Given the description of an element on the screen output the (x, y) to click on. 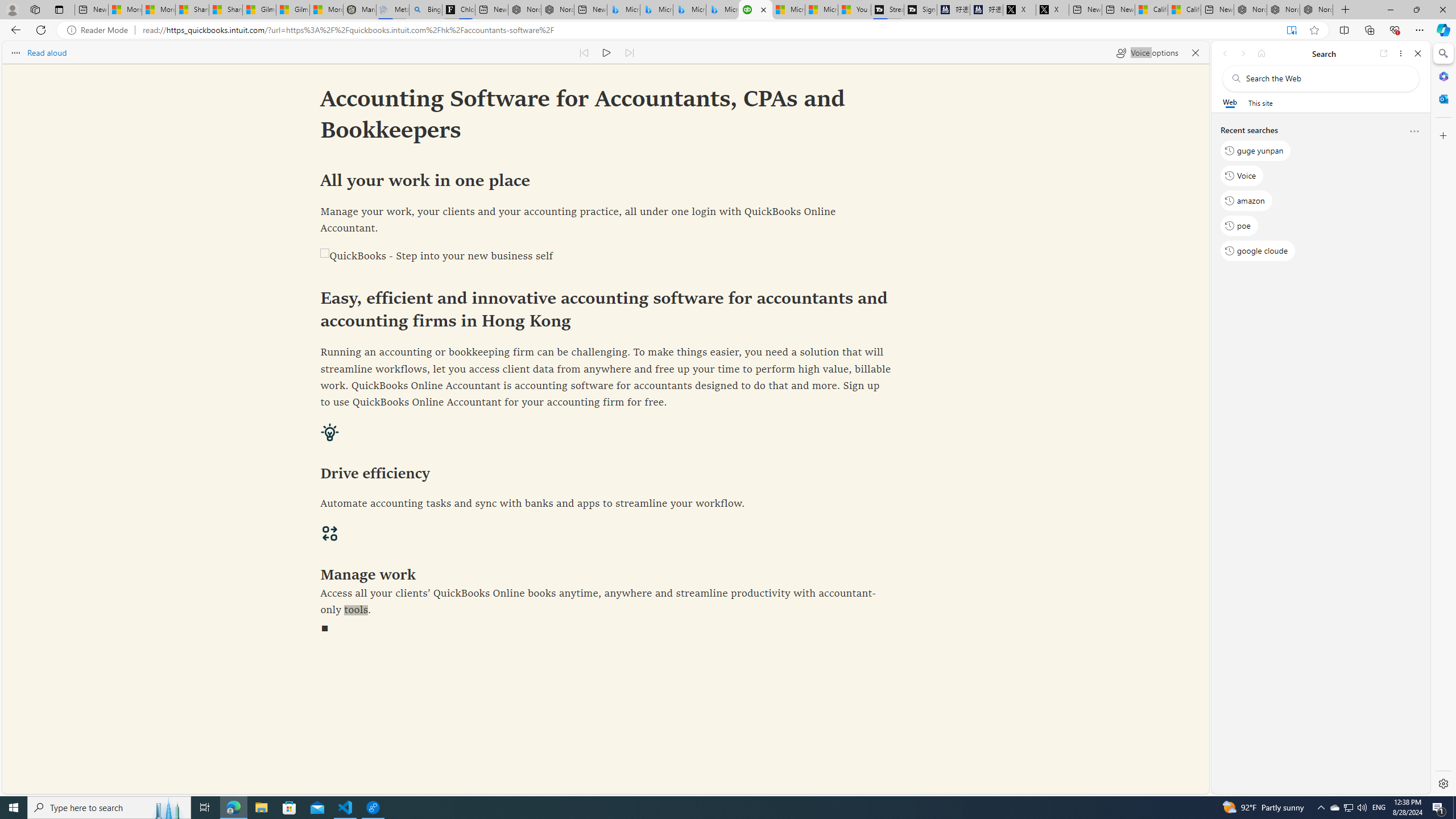
Web scope (1230, 102)
Recent searchesguge yunpanVoiceamazonpoegoogle cloude (1320, 194)
QuickBooks - Step into your new business self (605, 256)
Home (1261, 53)
Continue to read aloud (Ctrl+Shift+U) (606, 52)
Voice (1241, 175)
Chloe Sorvino (458, 9)
